Given the description of an element on the screen output the (x, y) to click on. 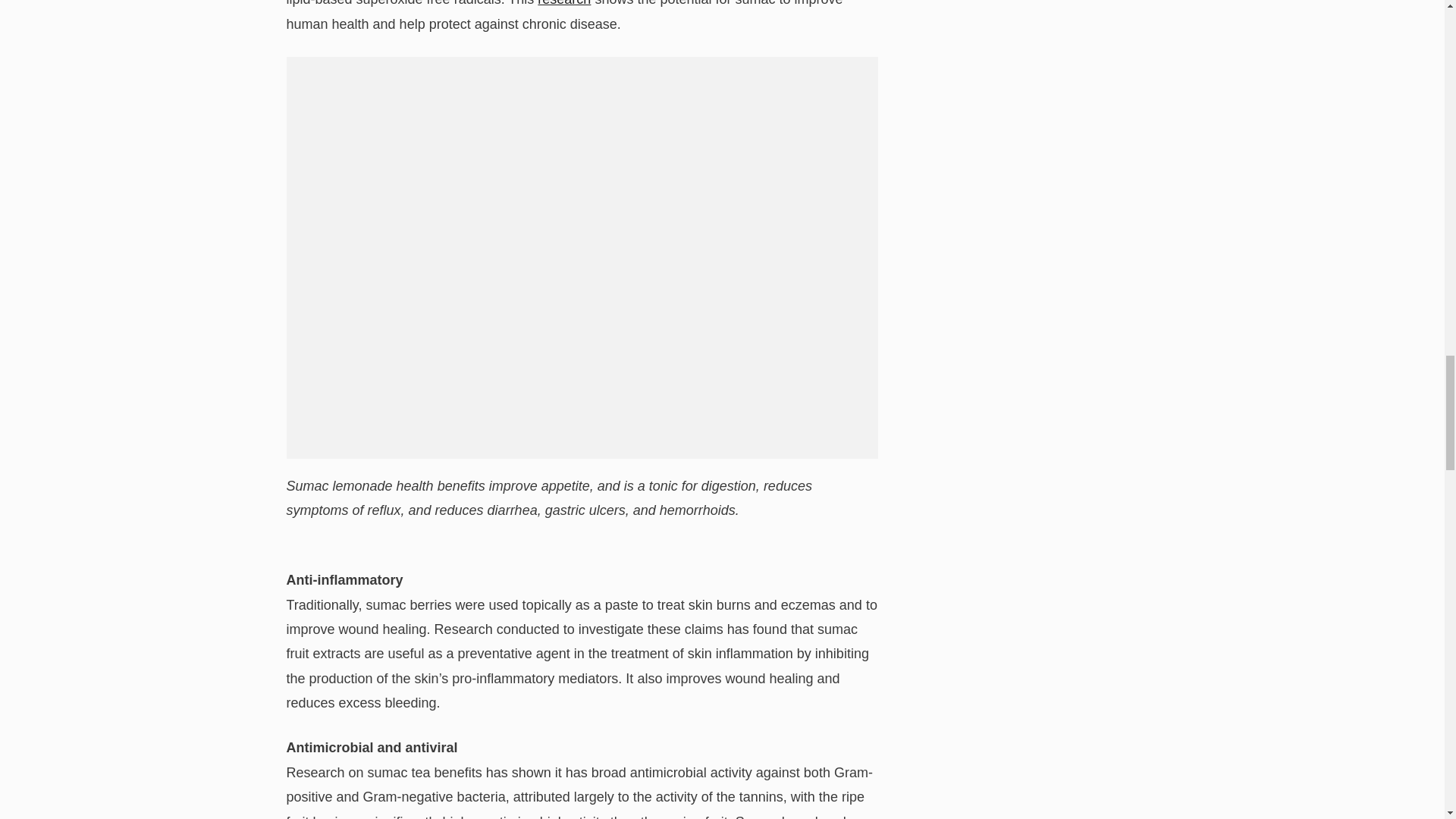
research (564, 3)
